Given the description of an element on the screen output the (x, y) to click on. 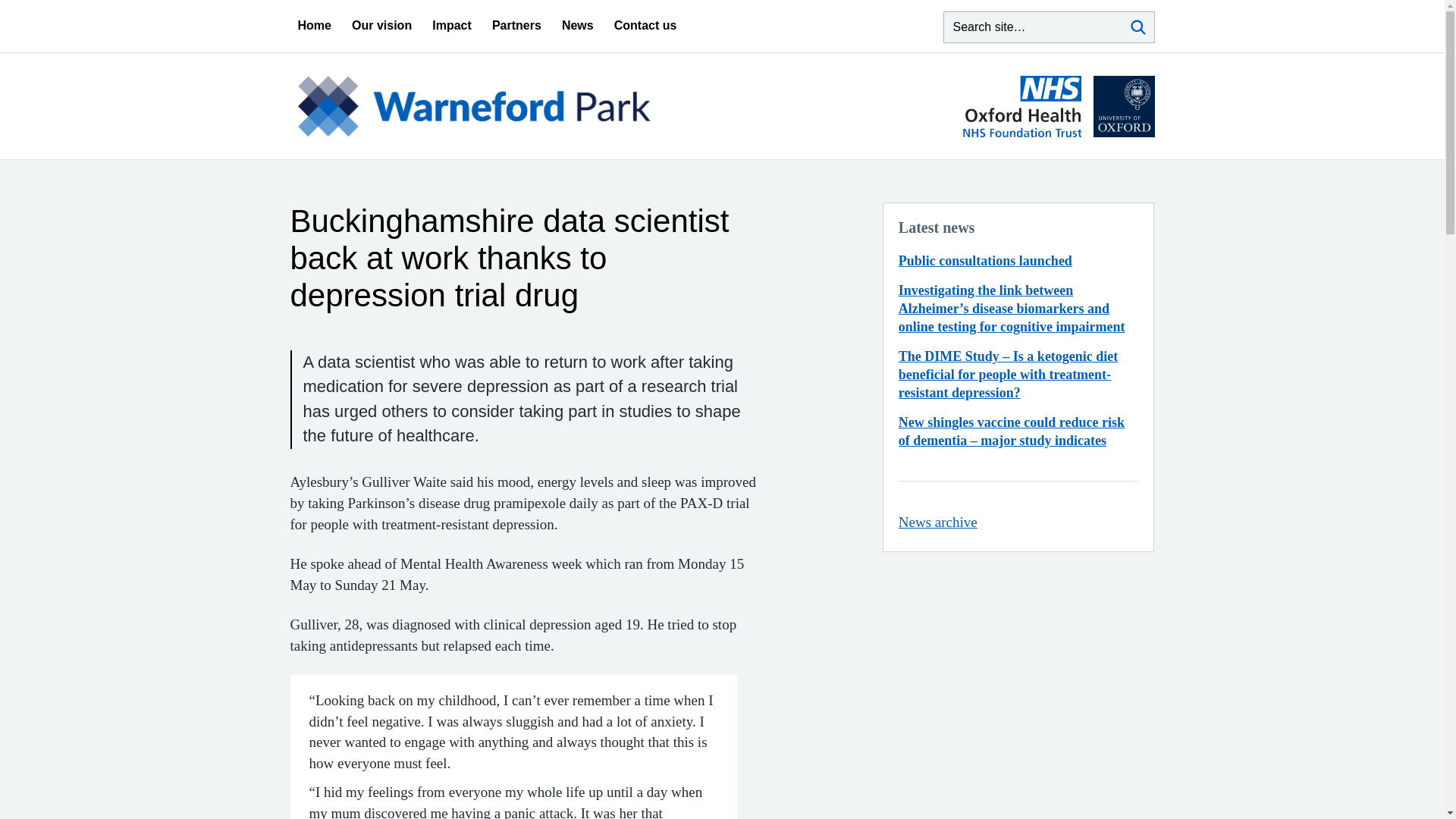
Impact (451, 25)
Partners (516, 25)
Our vision (382, 25)
Contact us (645, 25)
Search (1137, 27)
News (578, 25)
Home (313, 25)
News archive (937, 521)
Public consultations launched (984, 260)
